Given the description of an element on the screen output the (x, y) to click on. 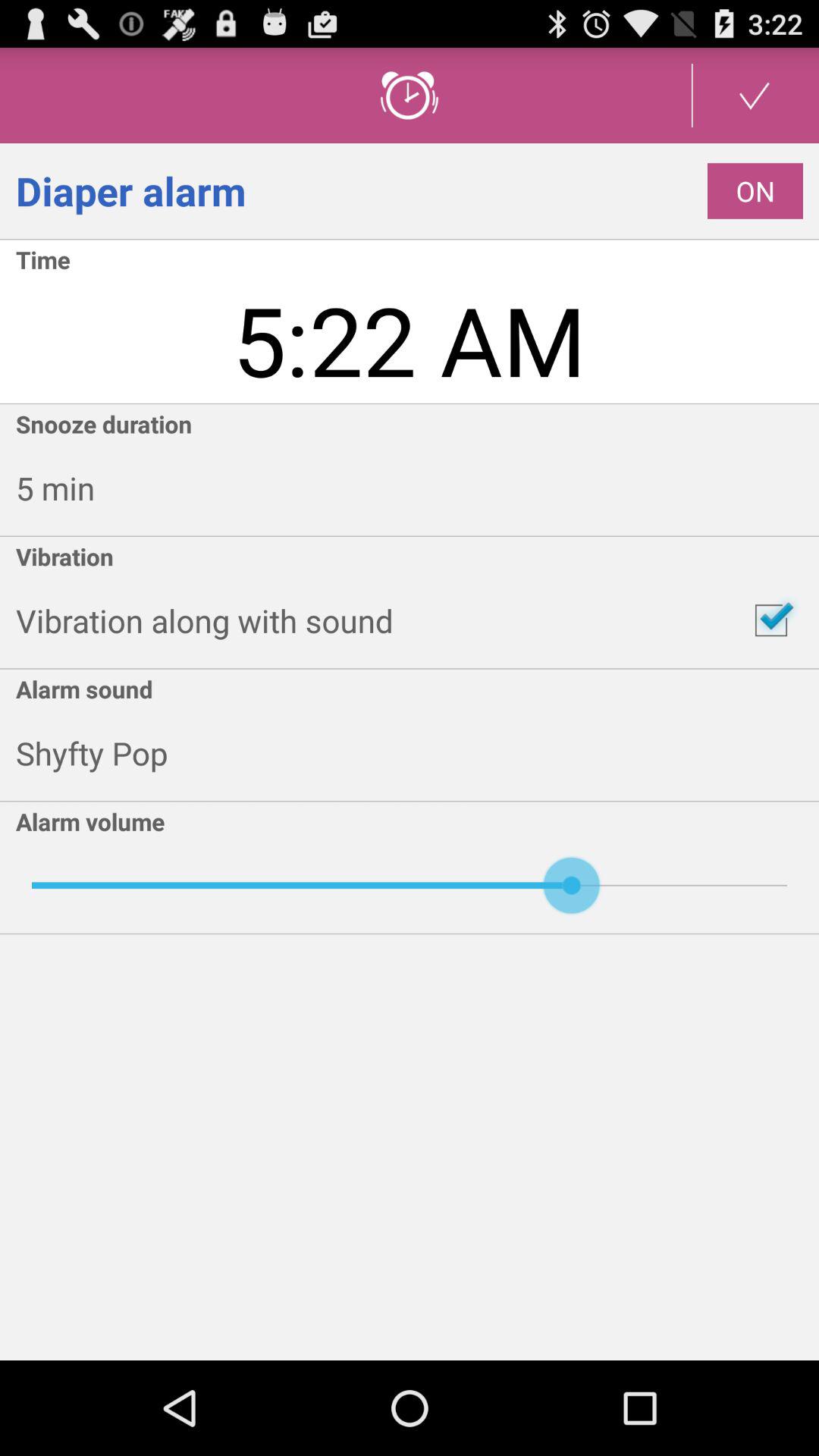
open the app to the right of diaper alarm (755, 190)
